Given the description of an element on the screen output the (x, y) to click on. 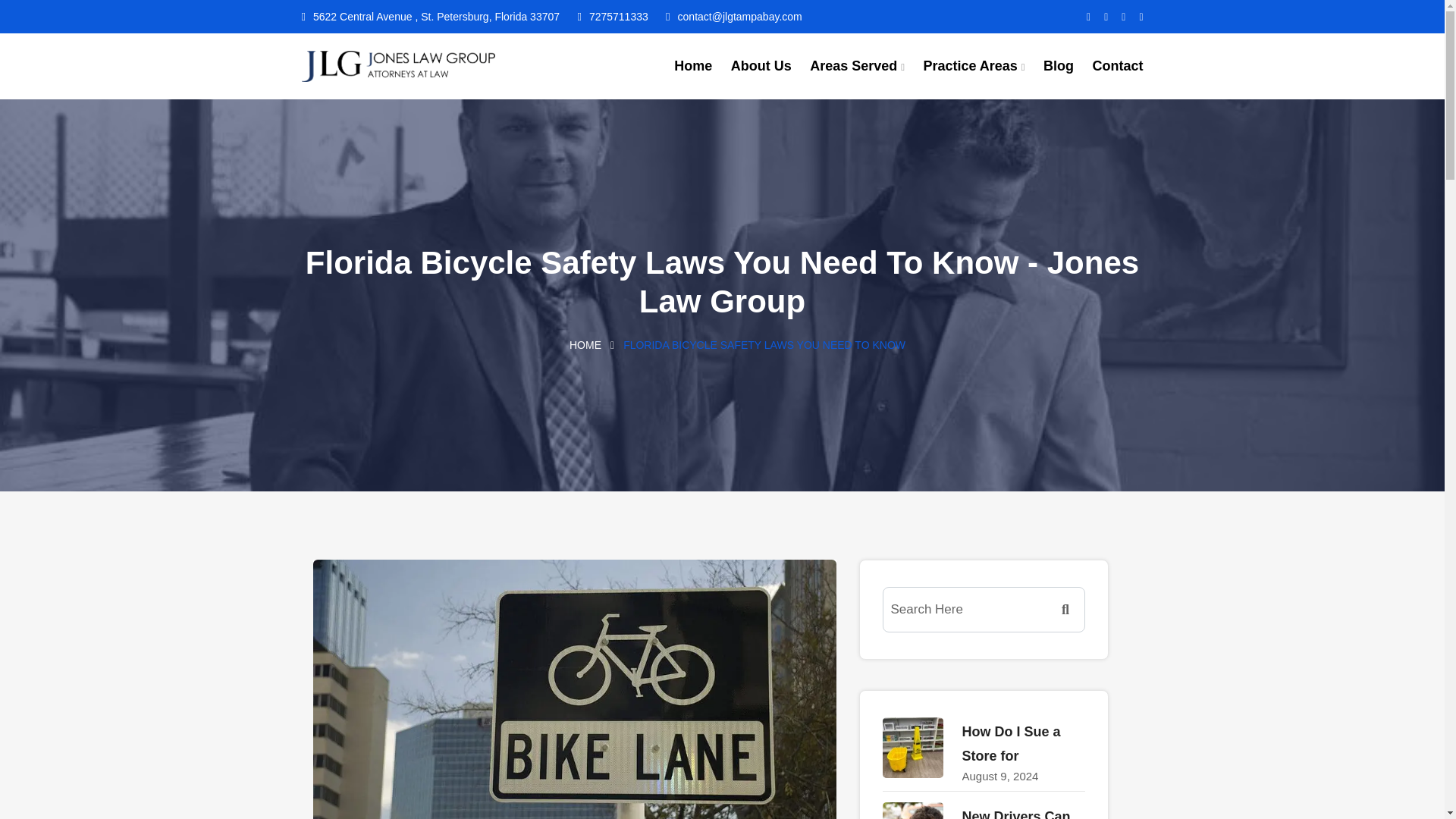
Areas Served (856, 66)
Practice Areas (974, 66)
About Us (761, 66)
Jones Law Group (398, 65)
7275711333 (611, 17)
Home (692, 66)
Blog (1058, 66)
Search for: (984, 609)
Contact (1117, 66)
